Given the description of an element on the screen output the (x, y) to click on. 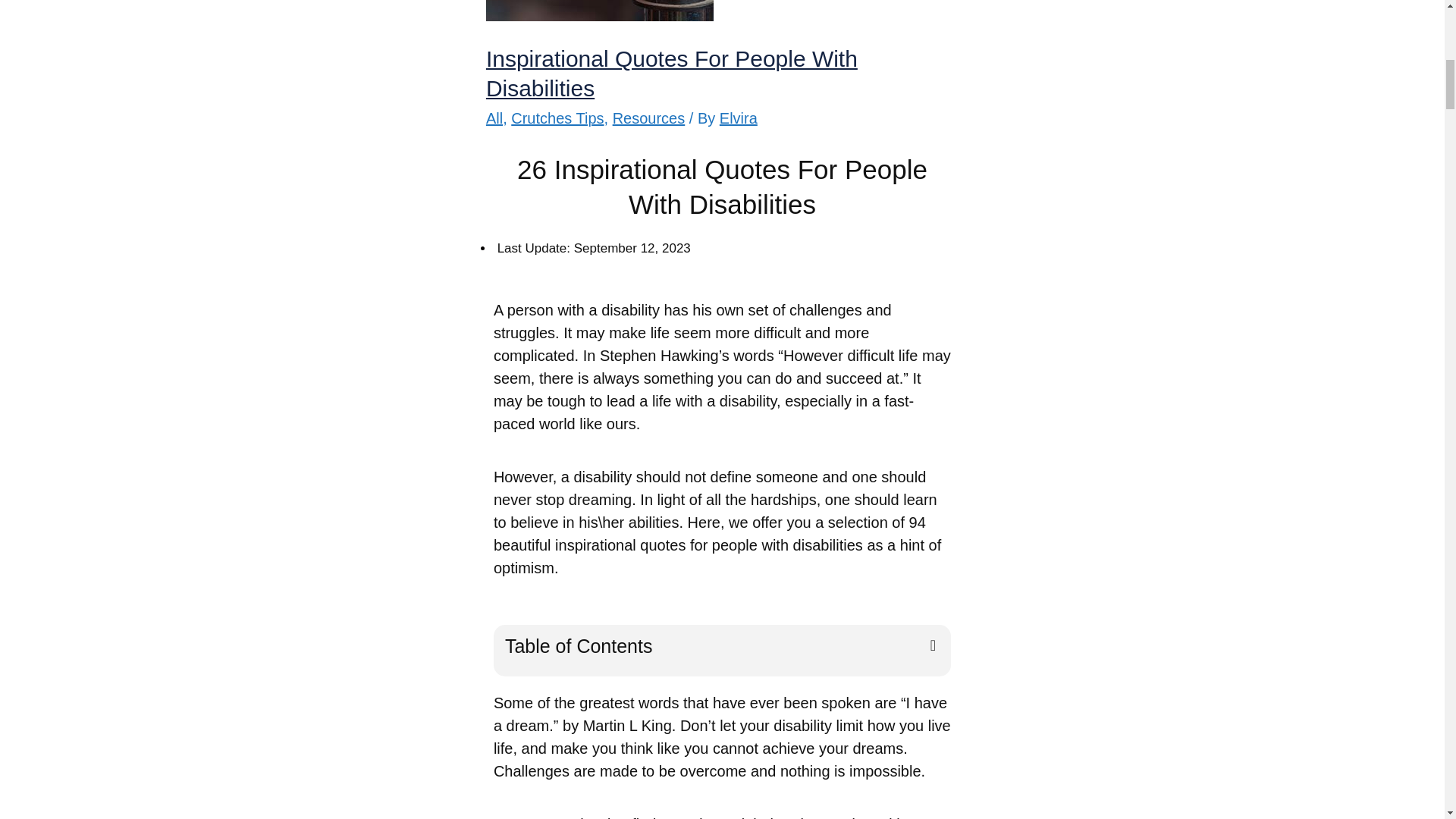
Inspirational Quotes For People With Disabilities (671, 72)
All (494, 117)
Crutches Tips (557, 117)
Resources (648, 117)
Elvira (738, 117)
View all posts by Elvira (738, 117)
